Given the description of an element on the screen output the (x, y) to click on. 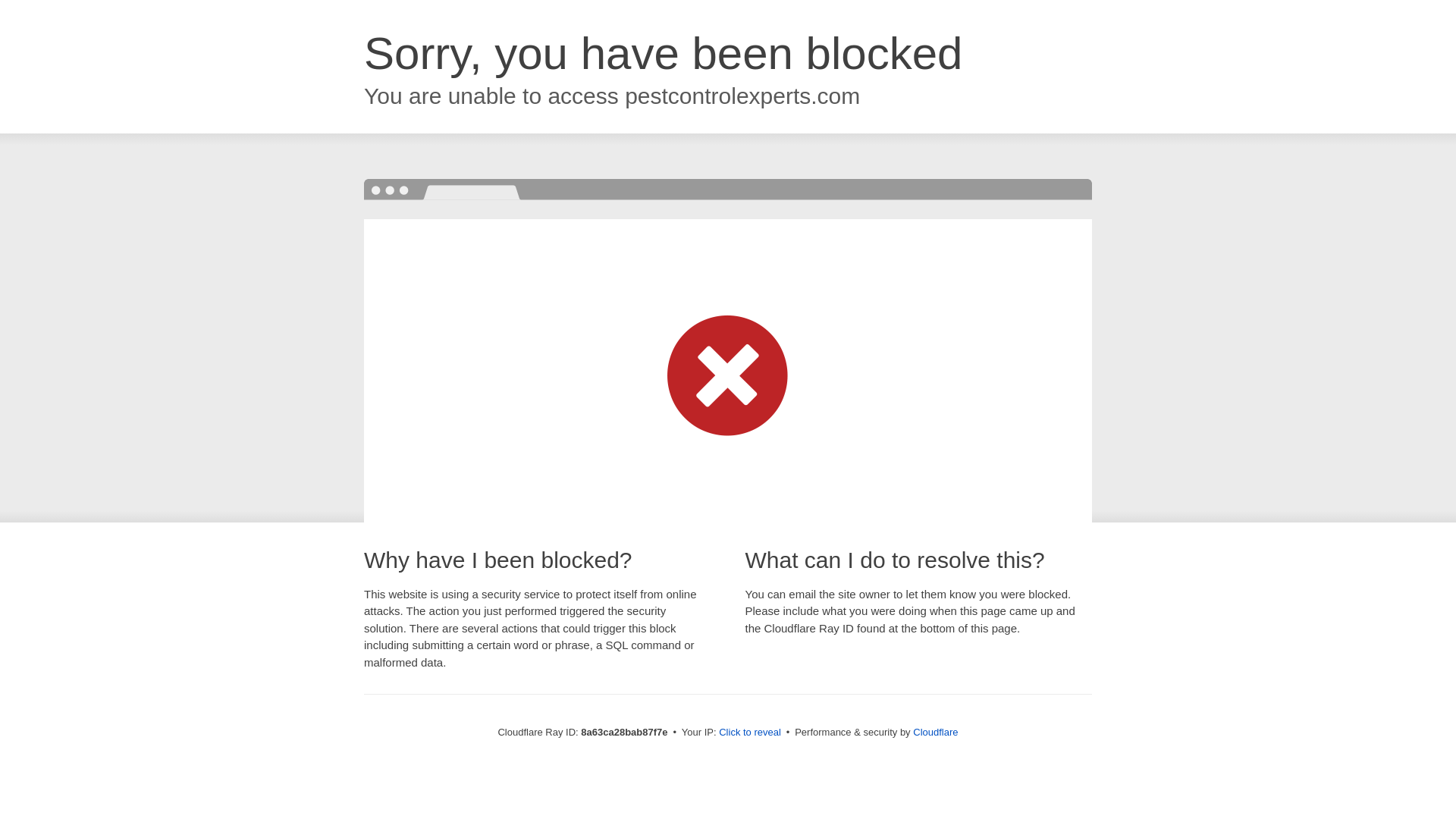
Click to reveal (749, 732)
Cloudflare (935, 731)
